Given the description of an element on the screen output the (x, y) to click on. 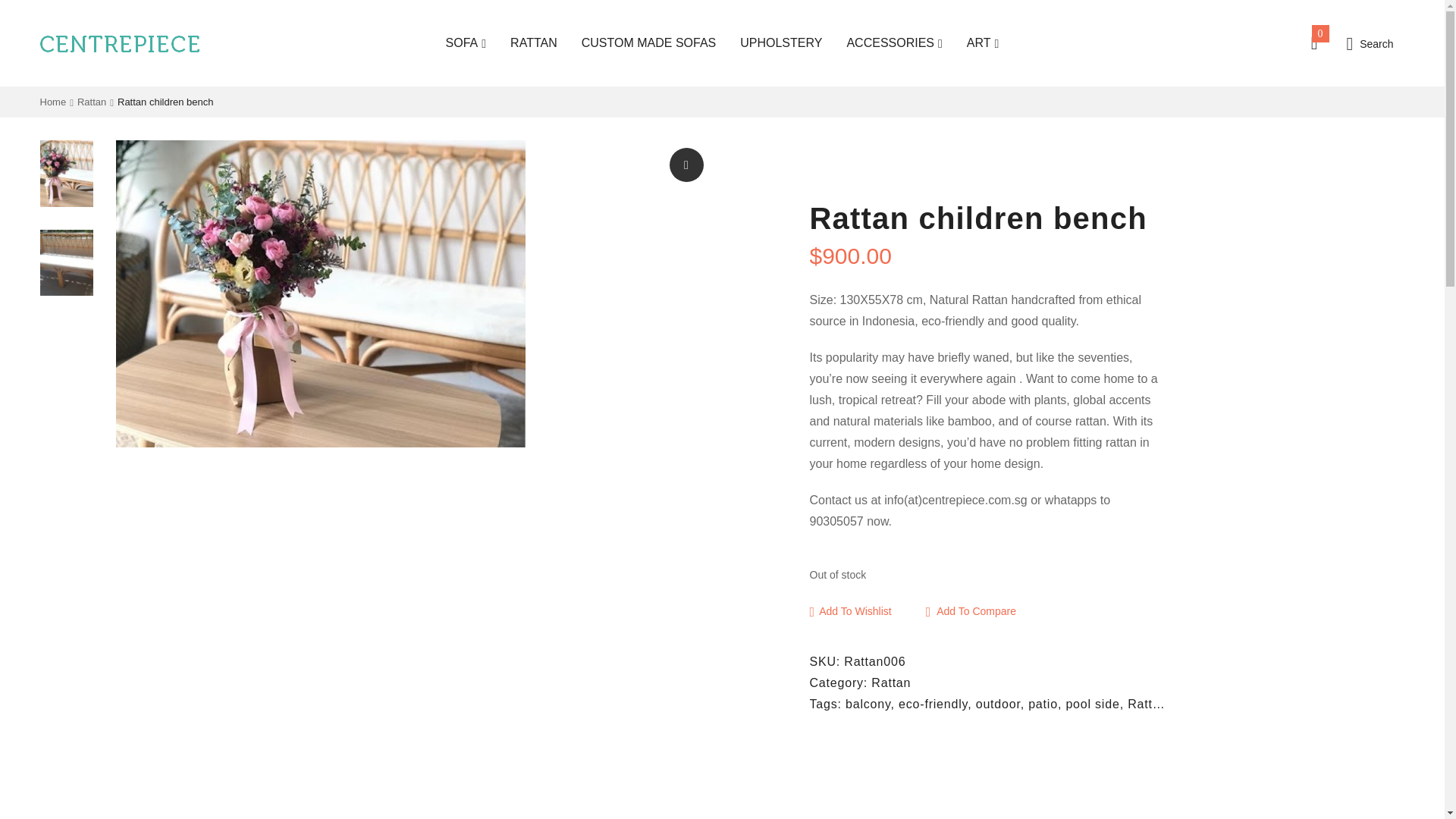
RATTAN (534, 42)
ACCESSORIES (893, 42)
UPHOLSTERY (780, 42)
CUSTOM MADE SOFAS (648, 42)
SOFA (465, 42)
